Given the description of an element on the screen output the (x, y) to click on. 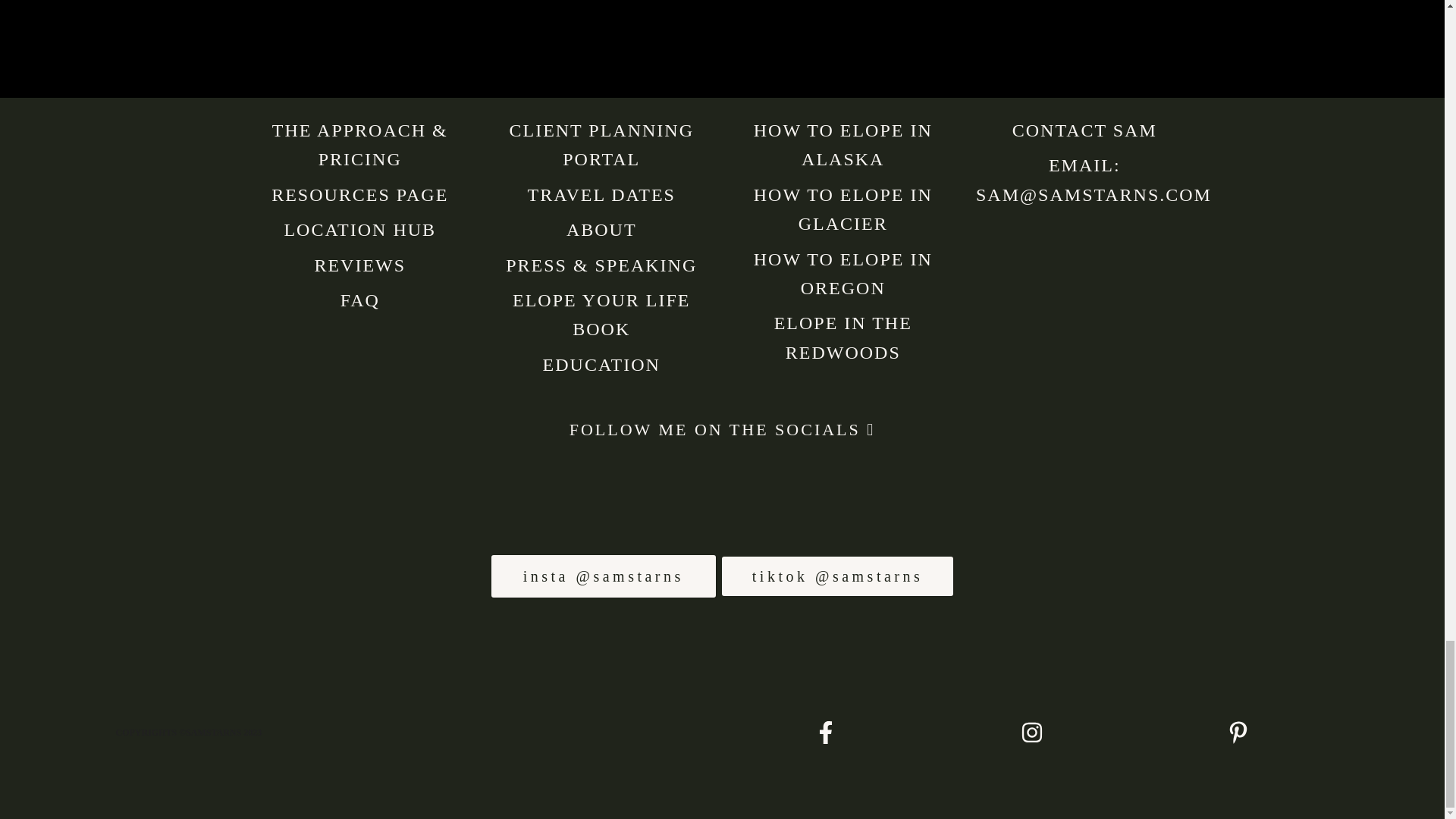
CLIENT PLANNING PORTAL (601, 144)
REVIEWS (360, 265)
TRAVEL DATES (601, 194)
RESOURCES PAGE (359, 194)
ABOUT (601, 229)
LOCATION HUB (359, 229)
FAQ (360, 300)
